Given the description of an element on the screen output the (x, y) to click on. 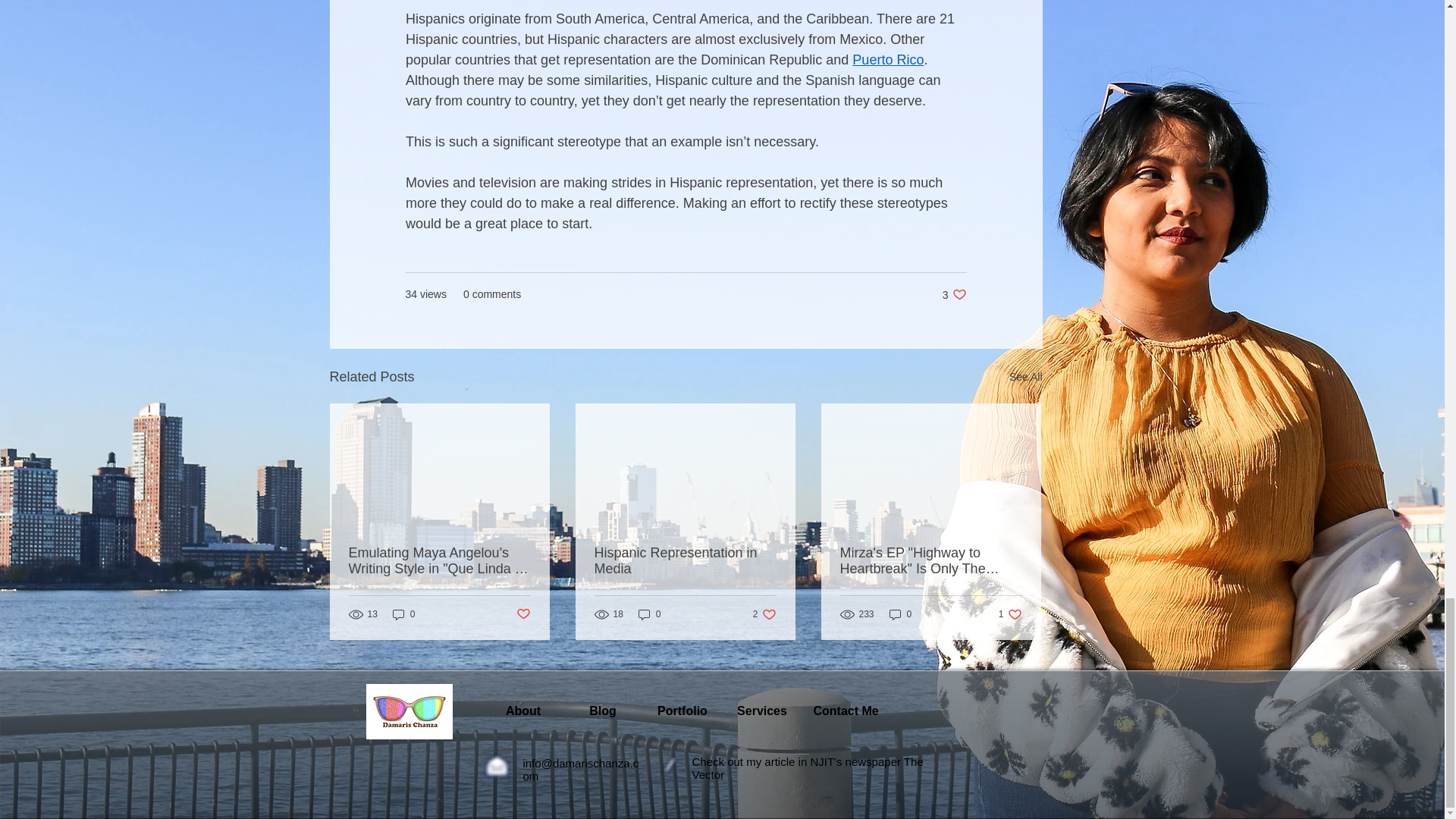
0 (403, 614)
0 (901, 614)
Post not marked as liked (522, 614)
0 (954, 294)
Puerto Rico (649, 614)
See All (887, 59)
Hispanic Representation in Media (1025, 377)
